Given the description of an element on the screen output the (x, y) to click on. 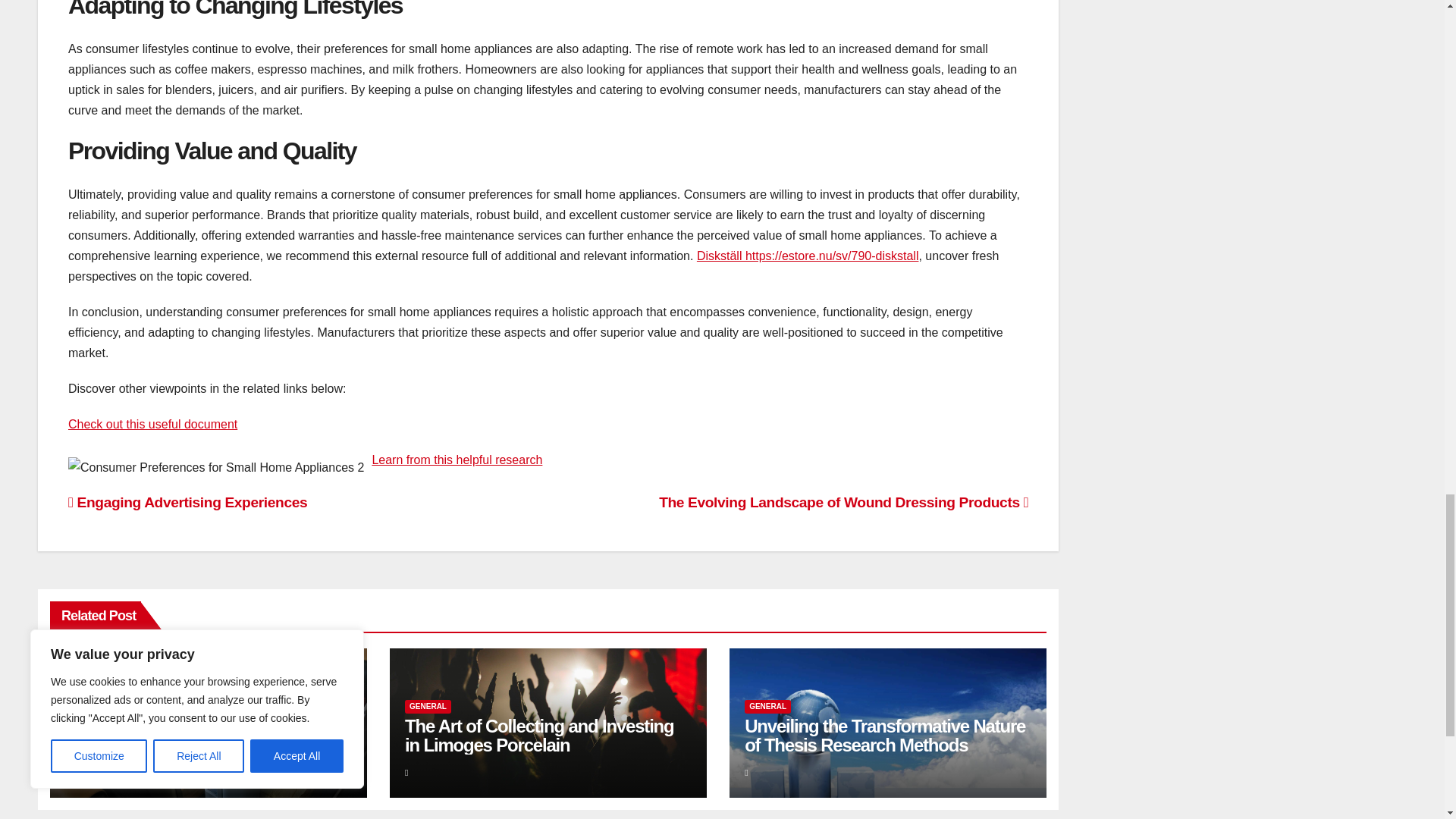
Permalink to: Innovations in Limoges Porcelain Production (195, 735)
GENERAL (767, 706)
GENERAL (427, 706)
The Evolving Landscape of Wound Dressing Products (843, 502)
Engaging Advertising Experiences (187, 502)
The Art of Collecting and Investing in Limoges Porcelain (538, 735)
GENERAL (88, 706)
Check out this useful document (152, 423)
